Given the description of an element on the screen output the (x, y) to click on. 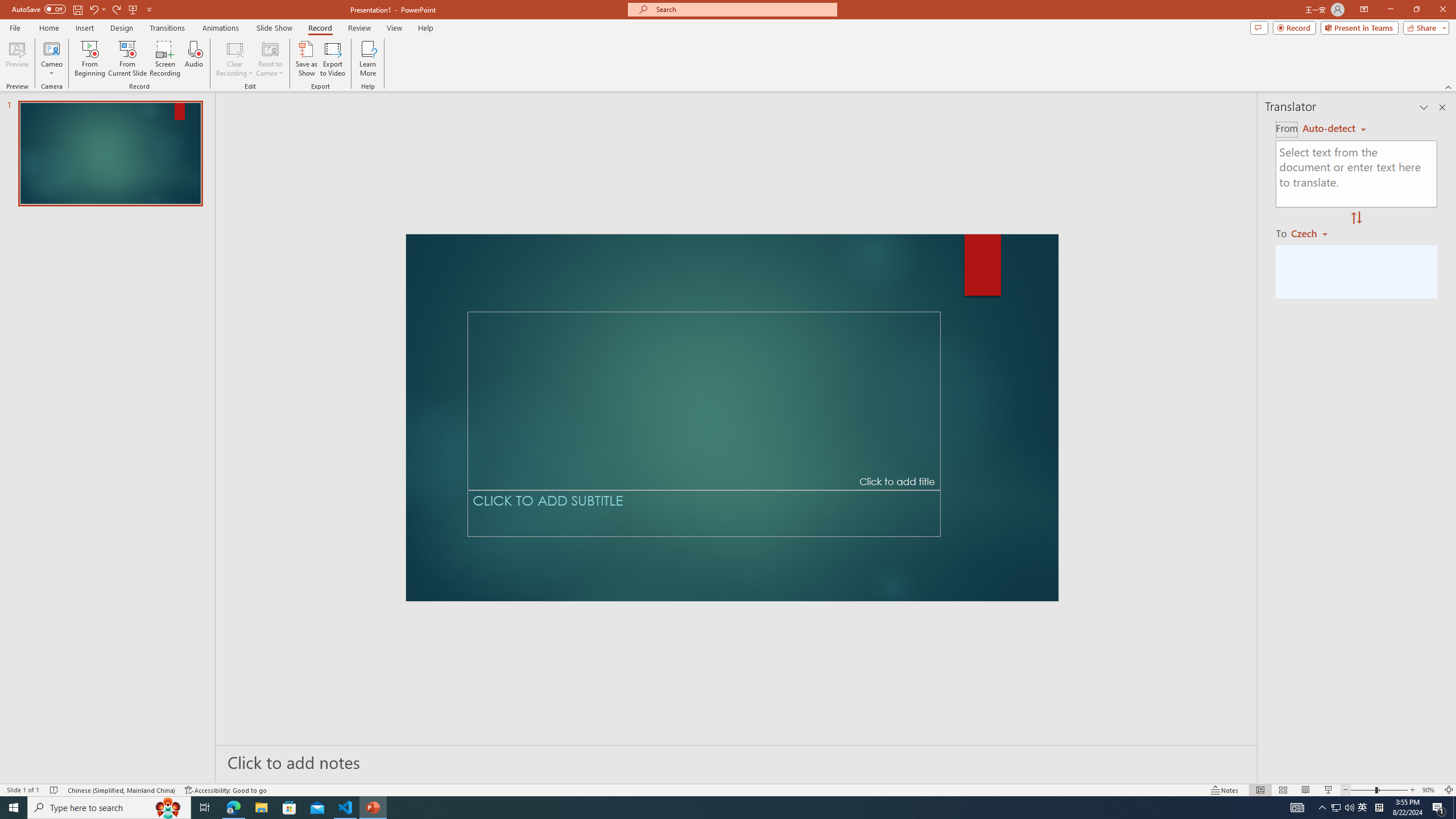
Save as Show (306, 58)
Audio (193, 58)
Subtitle TextBox (703, 513)
Screen Recording (165, 58)
